Given the description of an element on the screen output the (x, y) to click on. 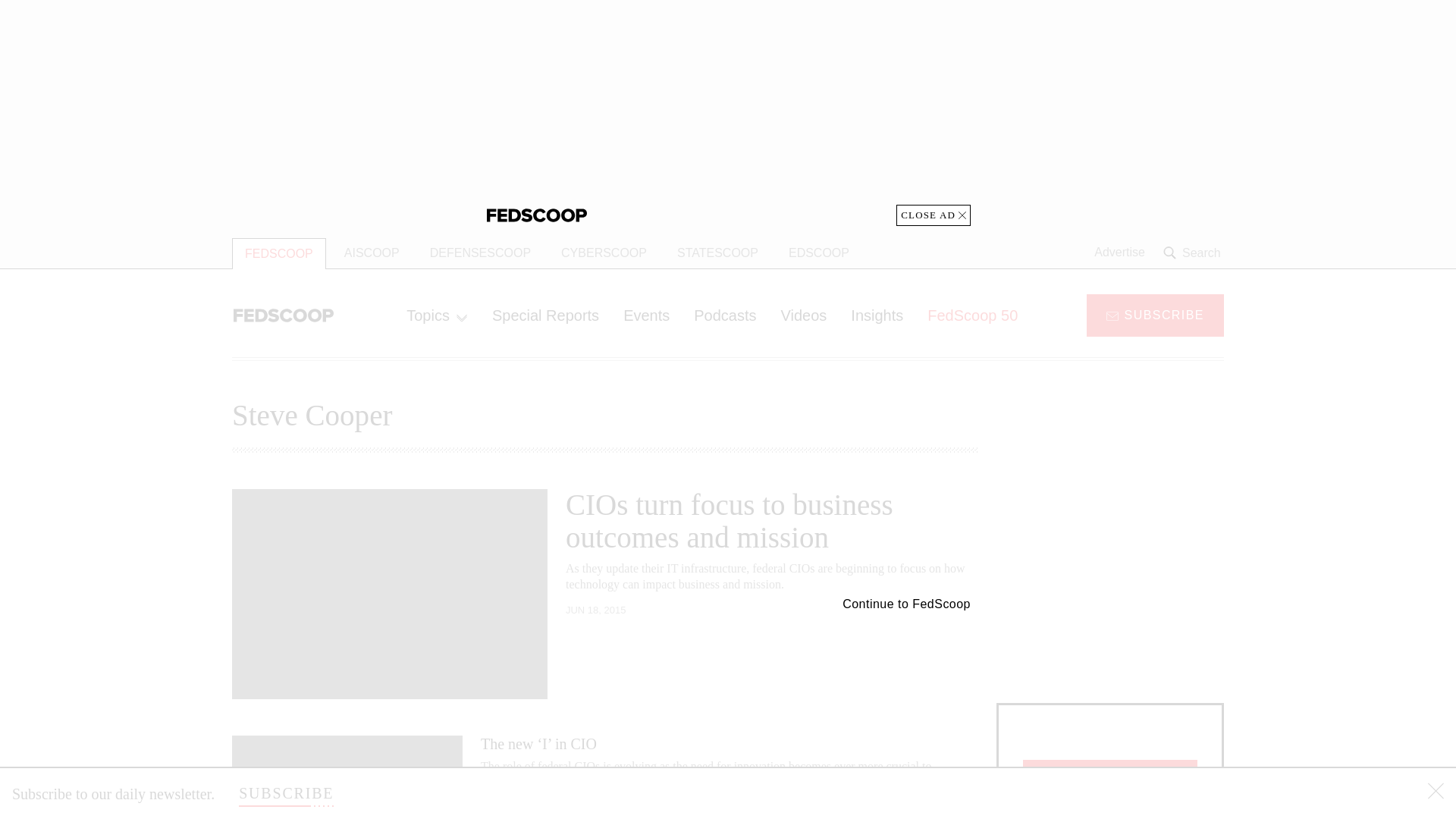
SUBSCRIBE (1155, 314)
CIOs turn focus to business outcomes and mission (729, 520)
FedScoop 50 (972, 315)
Videos (804, 315)
FEDSCOOP (278, 253)
STATESCOOP (717, 253)
Topics (437, 315)
DEFENSESCOOP (480, 253)
Special Reports (545, 315)
Search (1193, 252)
